Given the description of an element on the screen output the (x, y) to click on. 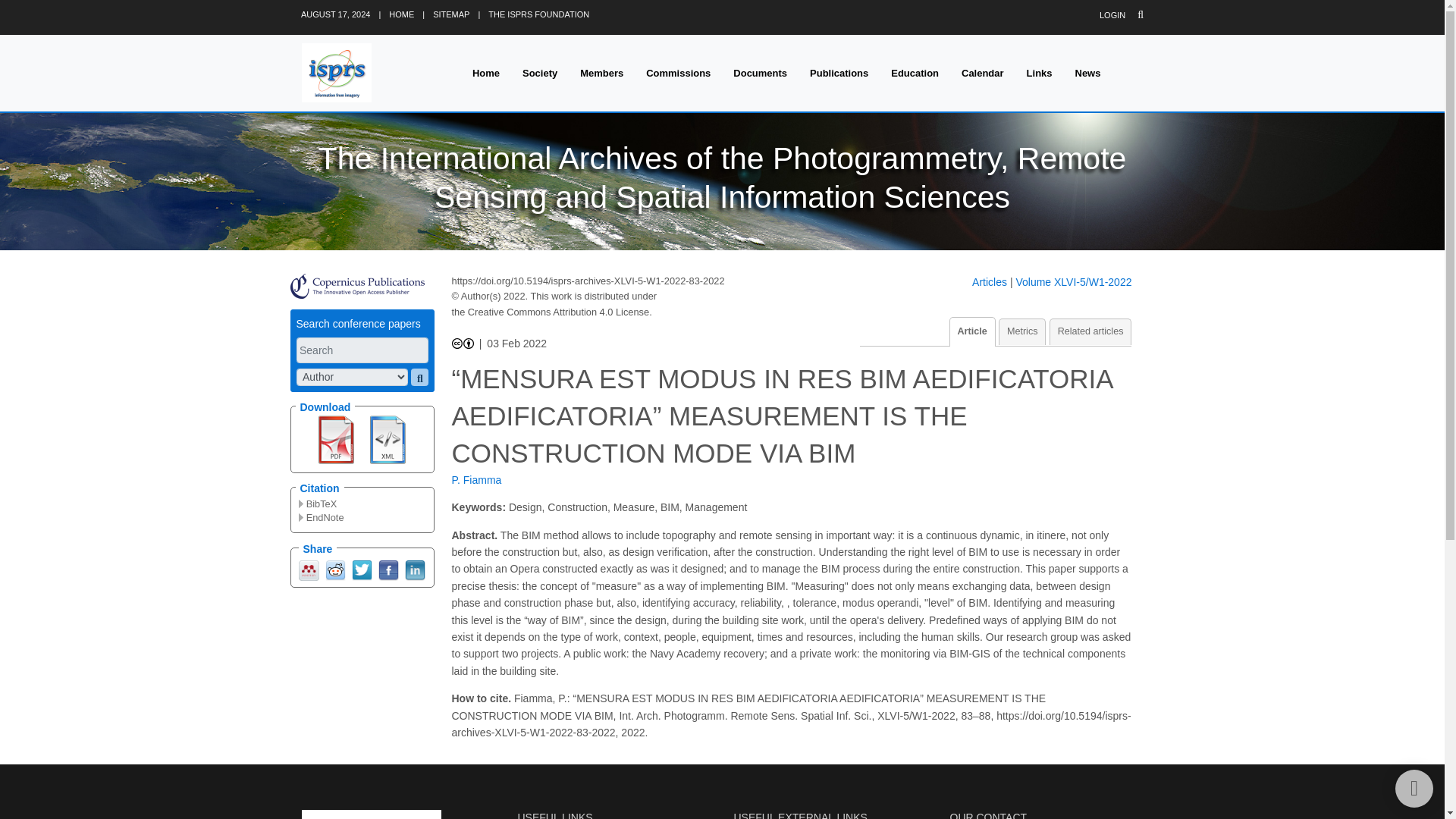
LOGIN (1112, 14)
THE ISPRS FOUNDATION (538, 13)
SITEMAP (450, 13)
HOME (400, 13)
Home (485, 73)
Society (539, 73)
